Given the description of an element on the screen output the (x, y) to click on. 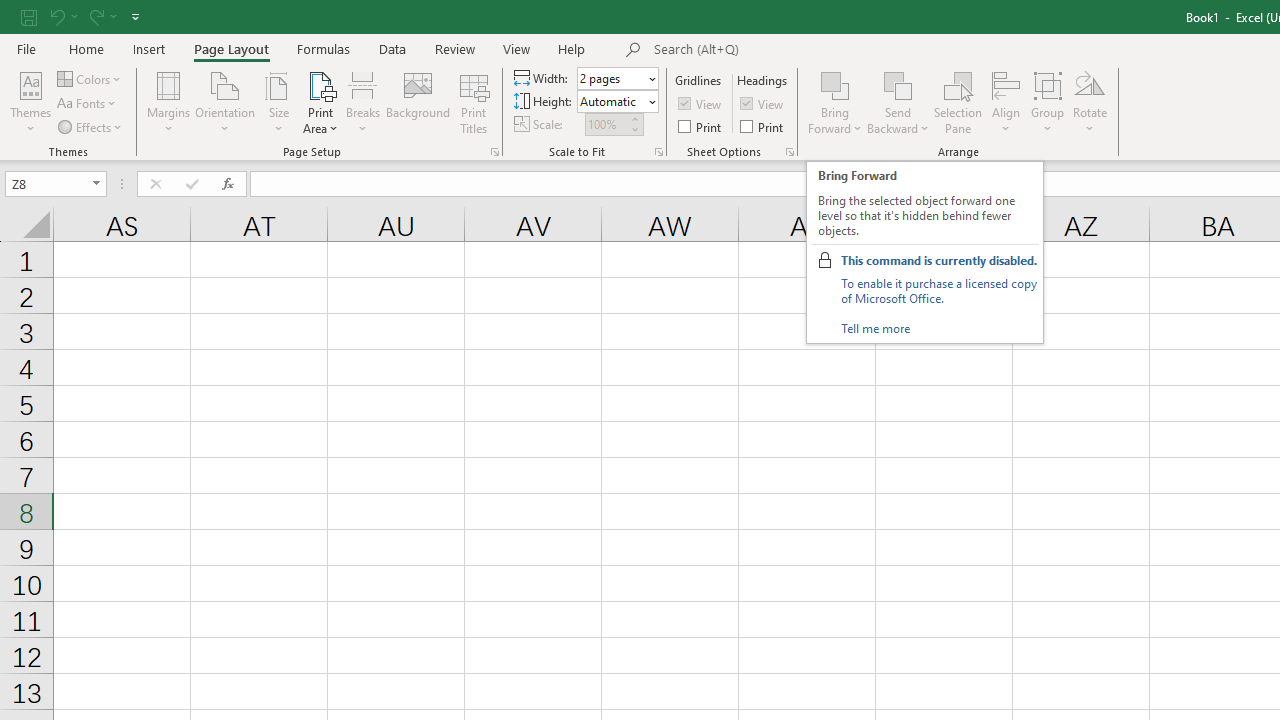
Bring Forward (835, 102)
Width (611, 78)
This command is currently disabled. (938, 260)
Height (611, 101)
Print Titles (474, 102)
